Given the description of an element on the screen output the (x, y) to click on. 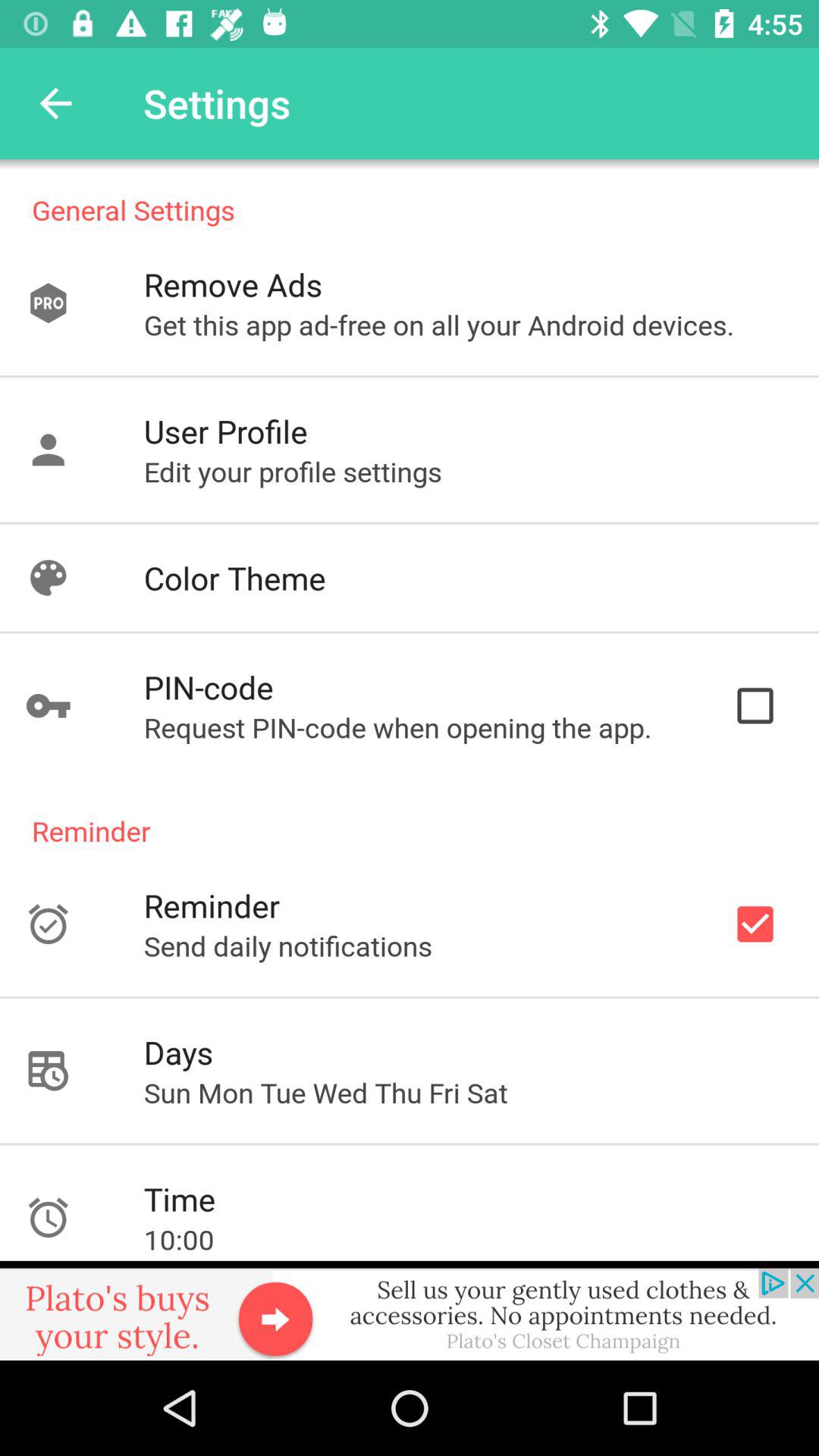
go back (55, 103)
